Given the description of an element on the screen output the (x, y) to click on. 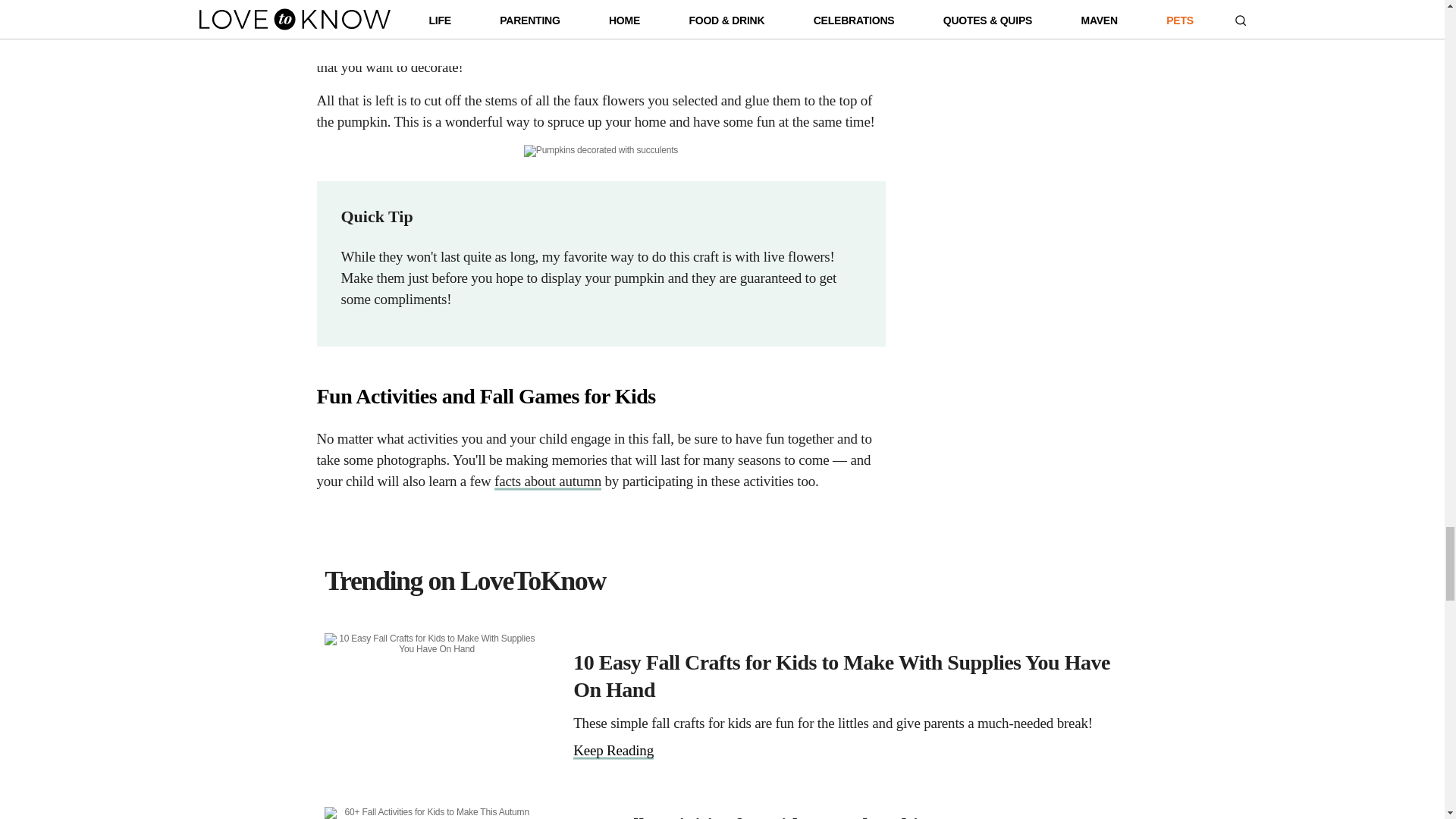
40 Facts About Fall for Kids That Are Beyond Be-Leaf  (548, 480)
